Given the description of an element on the screen output the (x, y) to click on. 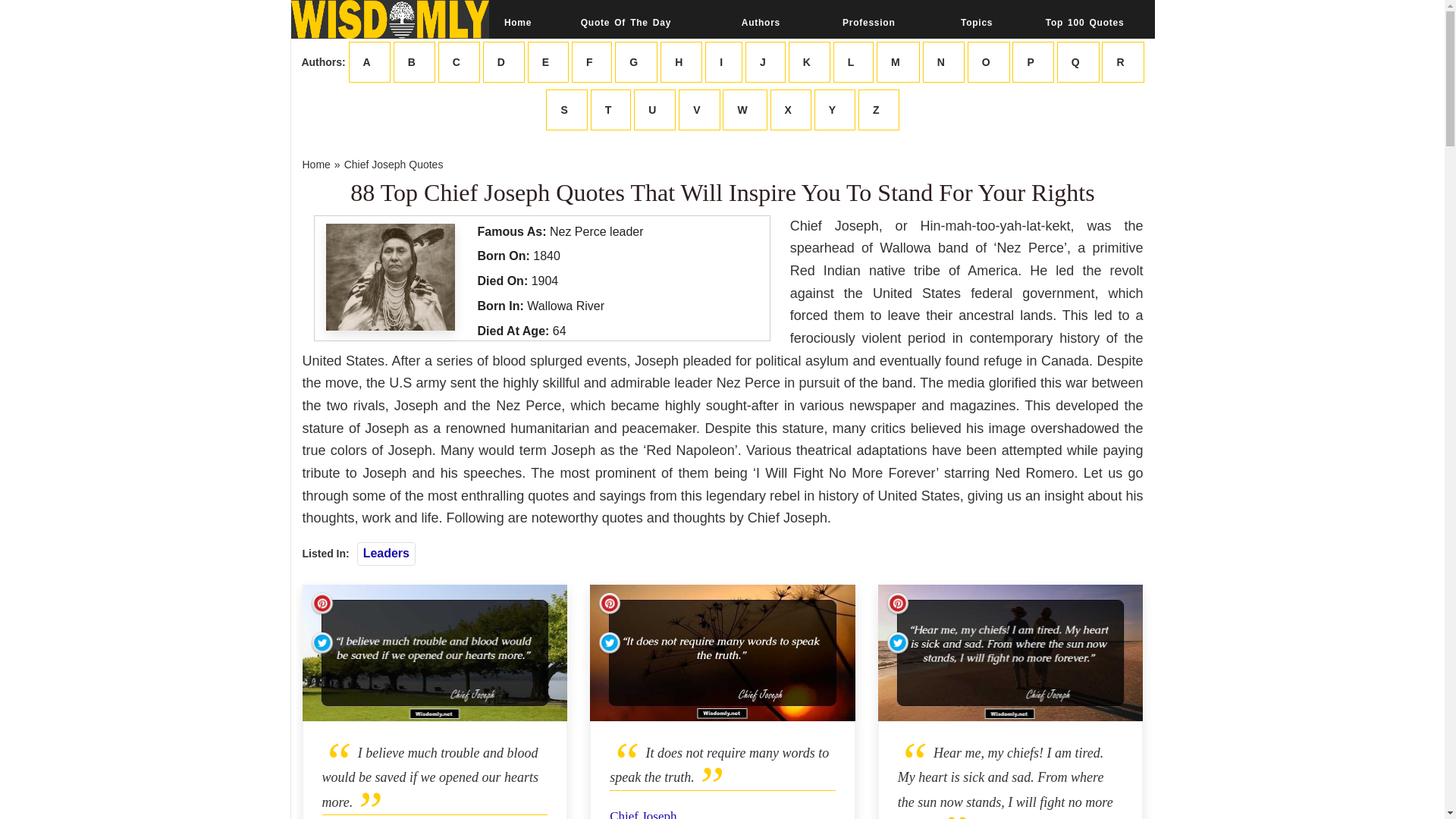
N (943, 61)
J (765, 61)
B (414, 61)
Y (834, 109)
D (503, 61)
Q (1078, 61)
C (459, 61)
T (611, 109)
G (636, 61)
L (853, 61)
Leaders (385, 553)
A (369, 61)
Home (517, 22)
Z (879, 109)
Authors (759, 22)
